Given the description of an element on the screen output the (x, y) to click on. 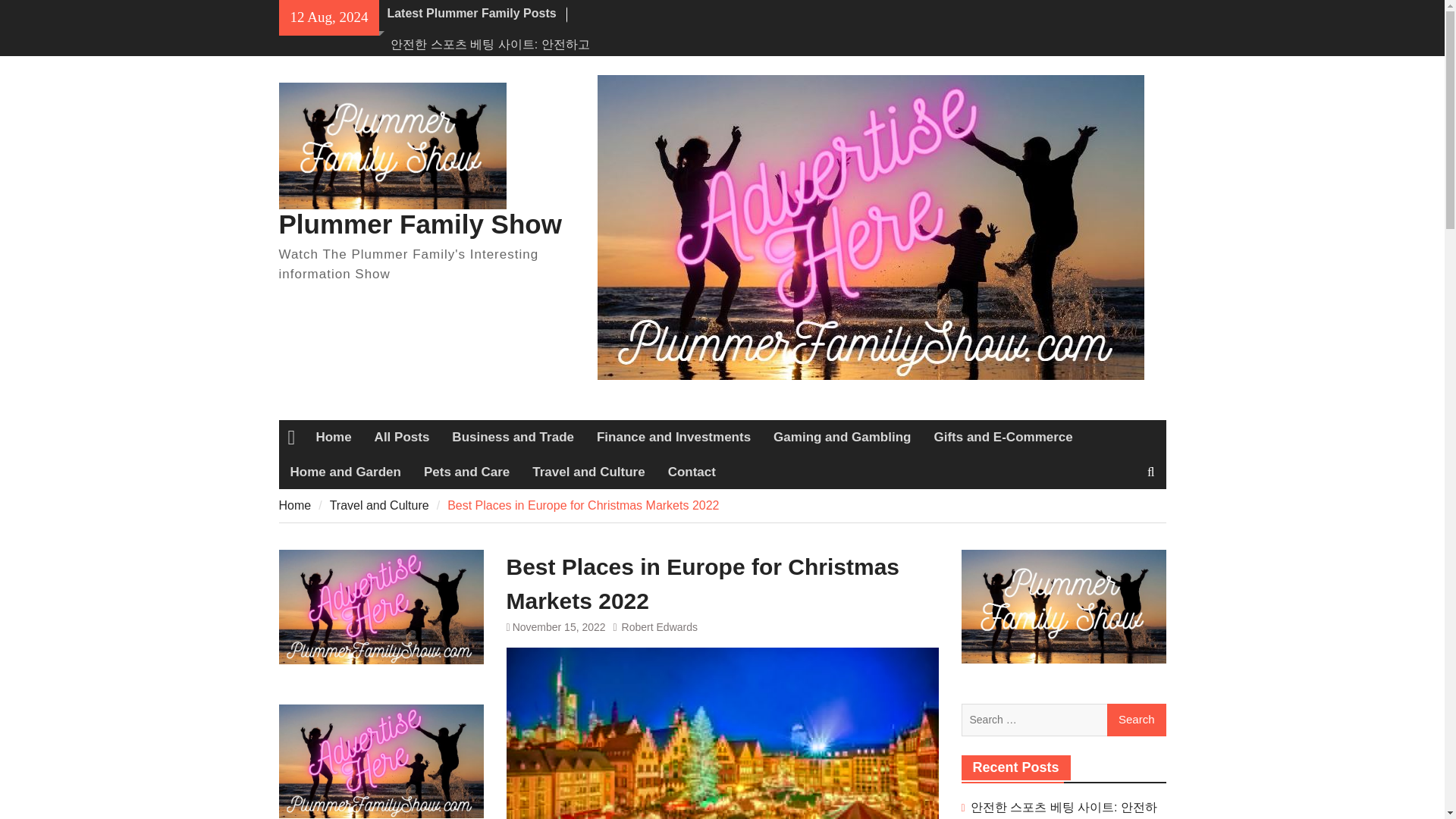
Plummer Family Show (420, 224)
Gaming and Gambling (841, 437)
Gifts and E-Commerce (1002, 437)
Travel and Culture (379, 504)
Home (295, 504)
Robert Edwards (659, 626)
Search (1136, 720)
Business and Trade (513, 437)
Home (333, 437)
Contact (691, 472)
